Given the description of an element on the screen output the (x, y) to click on. 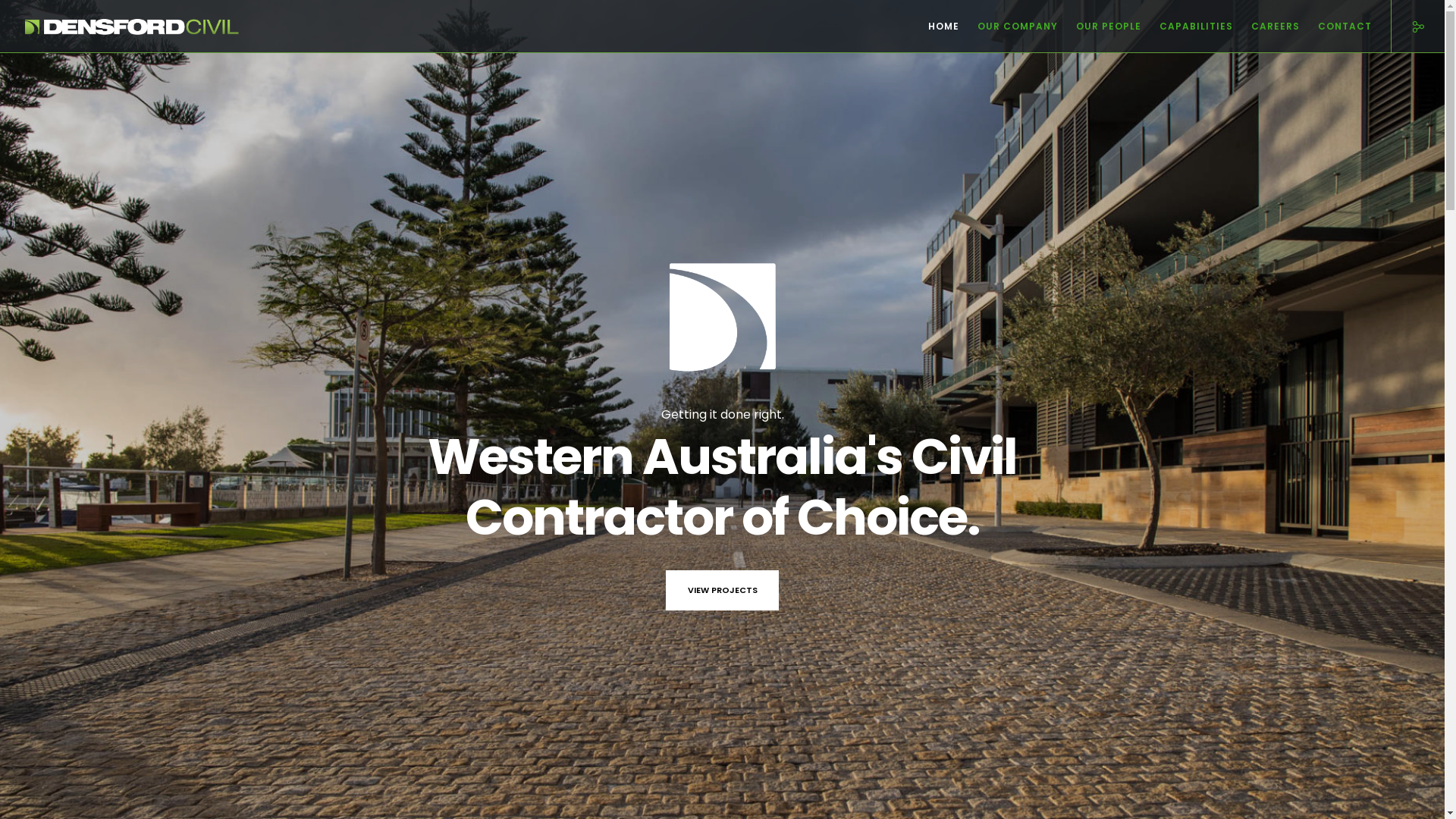
CONTACT Element type: text (1335, 26)
OUR PEOPLE Element type: text (1099, 26)
CAPABILITIES Element type: text (1187, 26)
VIEW PROJECTS Element type: text (722, 590)
CAREERS Element type: text (1266, 26)
HOME Element type: text (934, 26)
OUR COMPANY Element type: text (1008, 26)
